Given the description of an element on the screen output the (x, y) to click on. 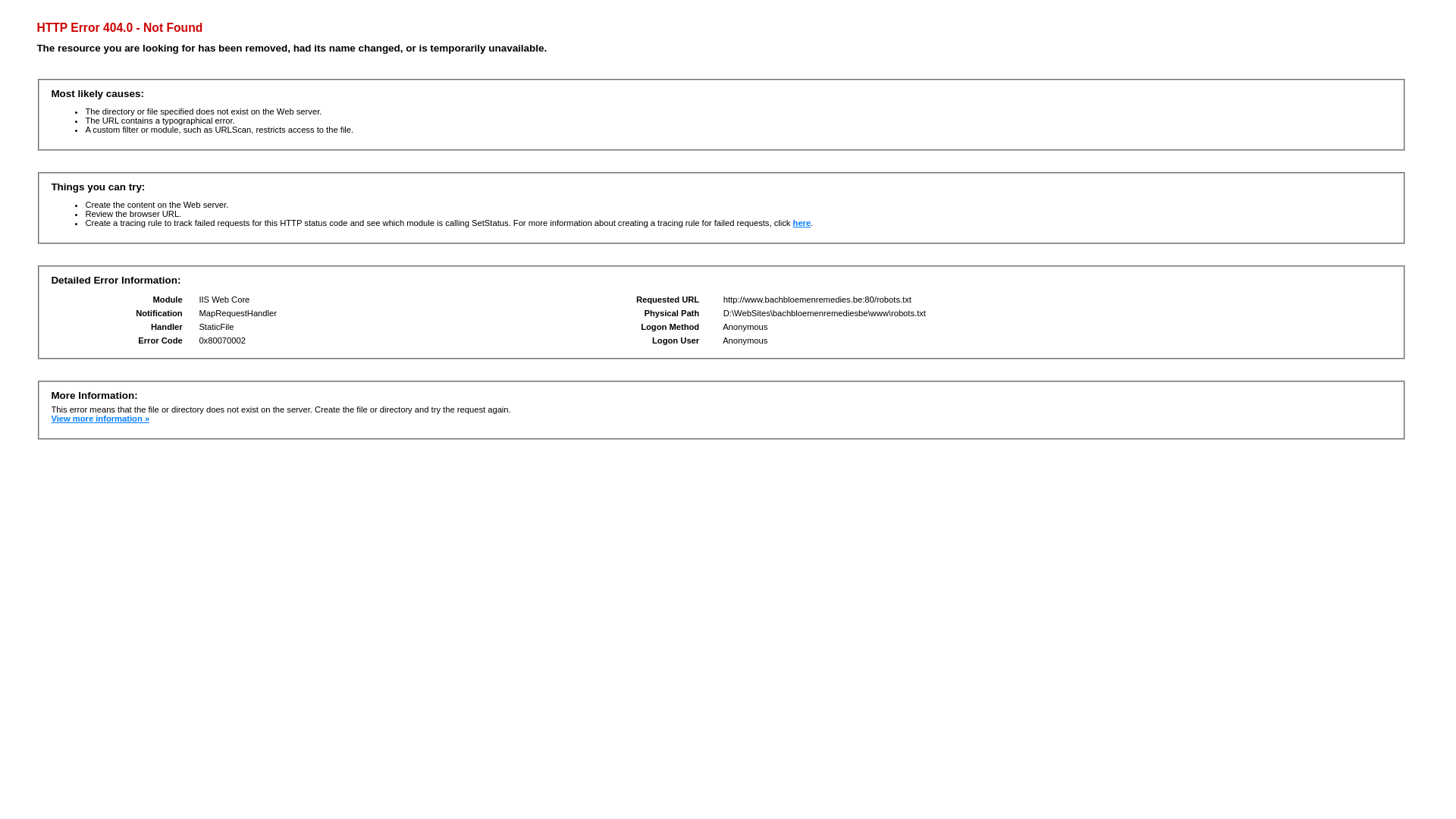
here Element type: text (802, 222)
